Given the description of an element on the screen output the (x, y) to click on. 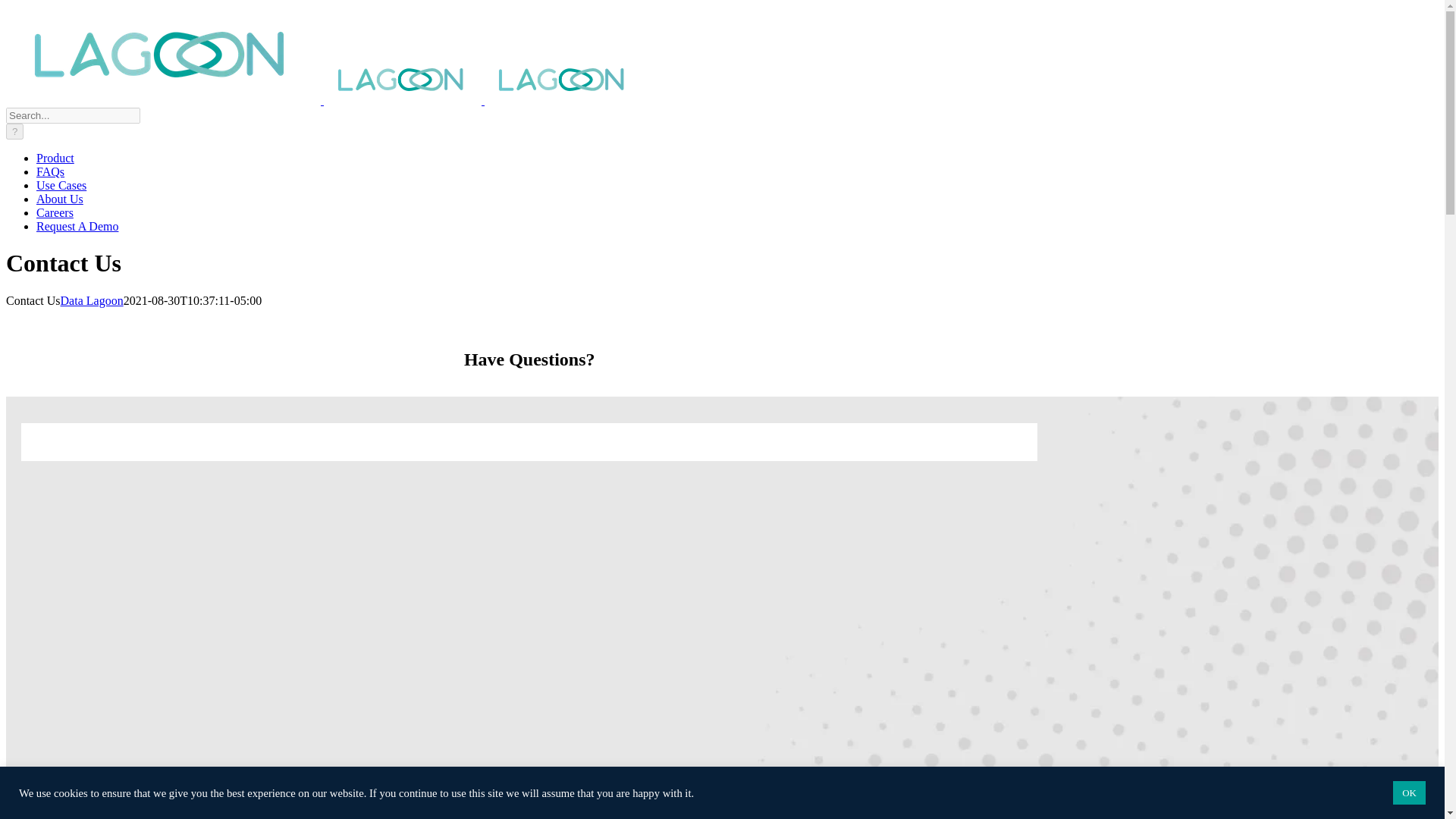
About Us (59, 198)
OK (1409, 792)
Data Lagoon (92, 300)
? (14, 131)
? (14, 131)
Careers (55, 212)
Posts by Data Lagoon (92, 300)
Request A Demo (76, 226)
FAQs (50, 171)
Use Cases (60, 185)
